Given the description of an element on the screen output the (x, y) to click on. 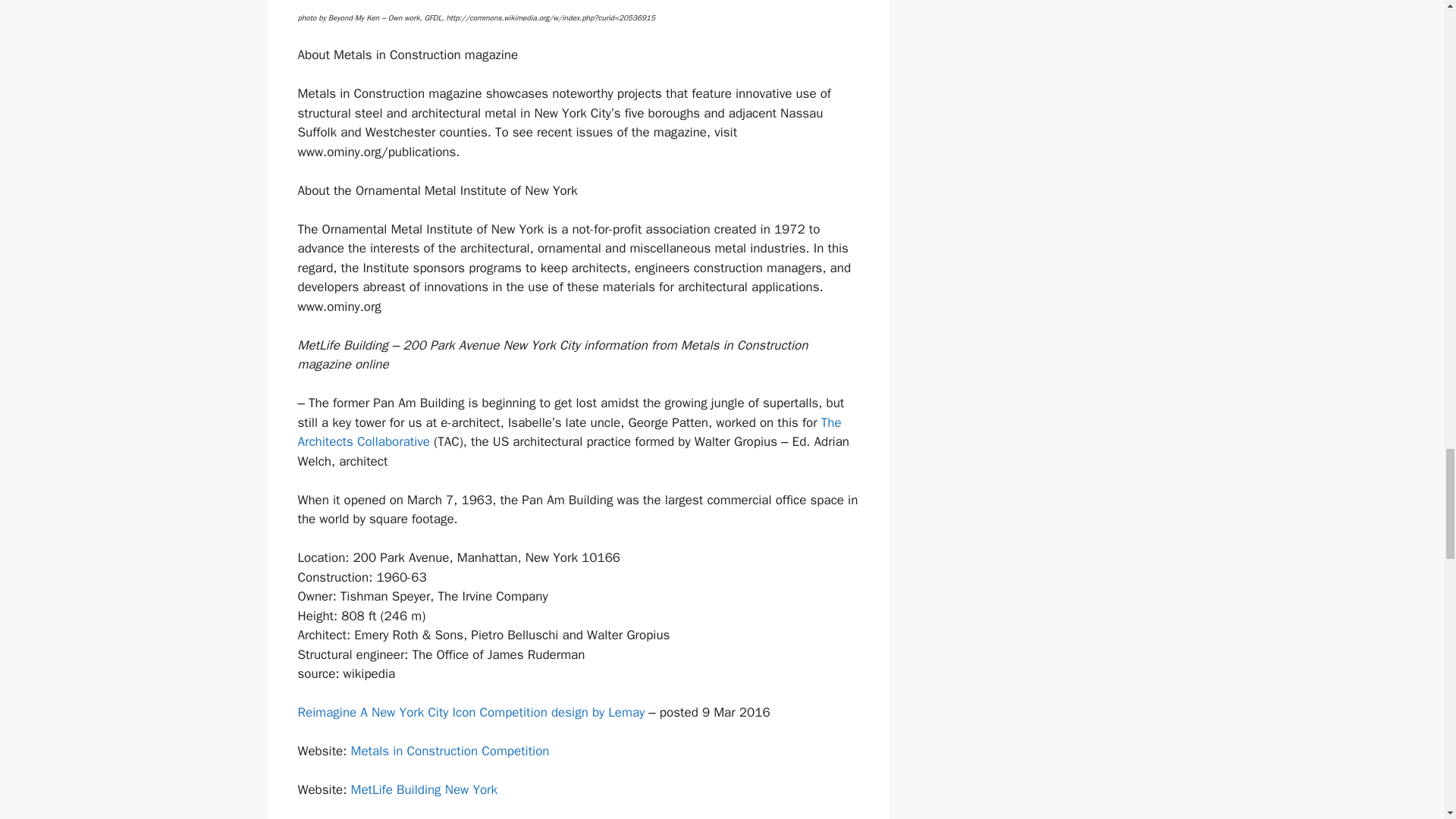
The Architects Collaborative (569, 432)
Reimagine A New York City Icon Competition design by Lemay (471, 712)
MetLife Building New York (423, 789)
Metals in Construction Competition (449, 750)
